Given the description of an element on the screen output the (x, y) to click on. 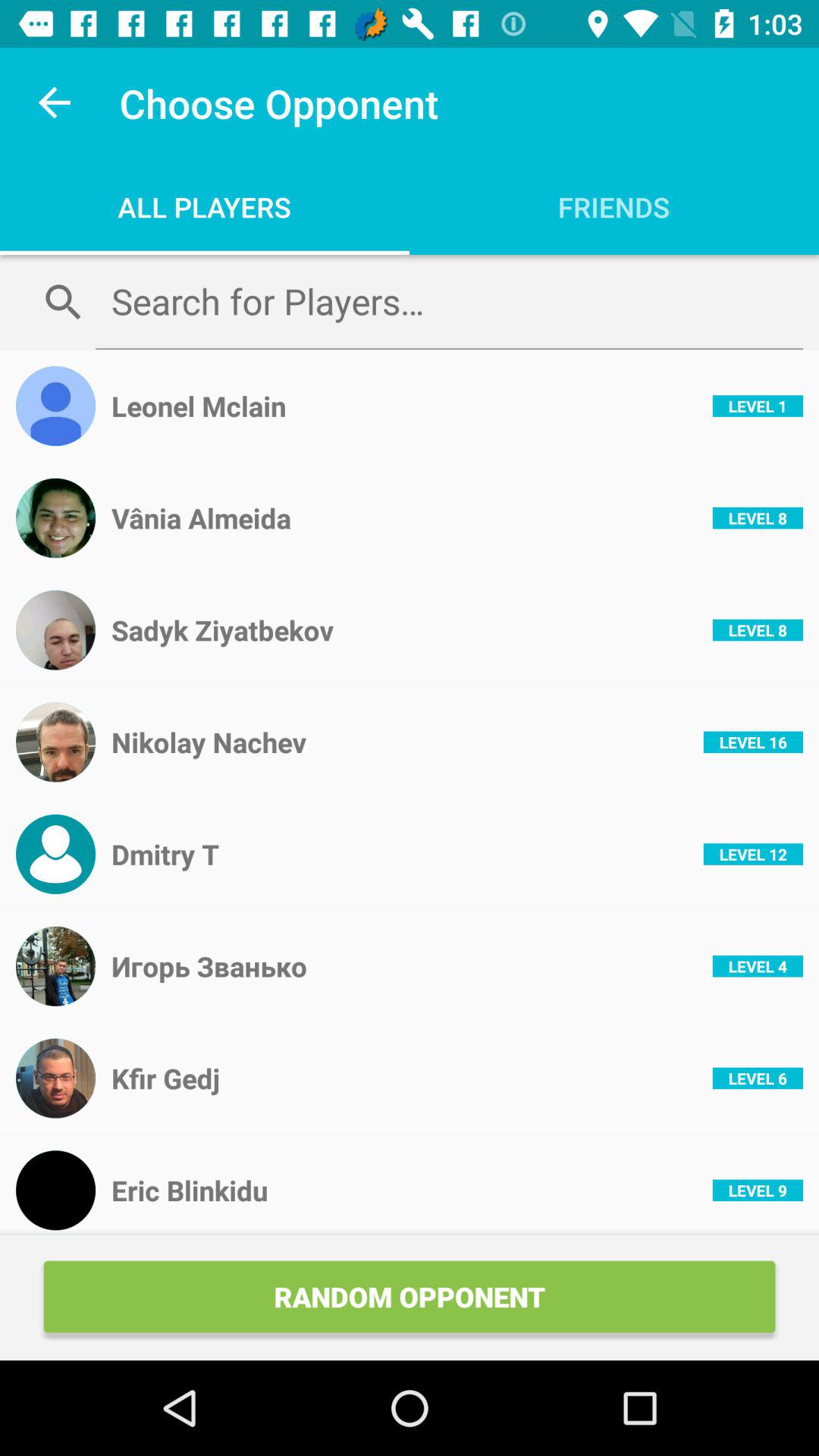
search for opponents (449, 301)
